Given the description of an element on the screen output the (x, y) to click on. 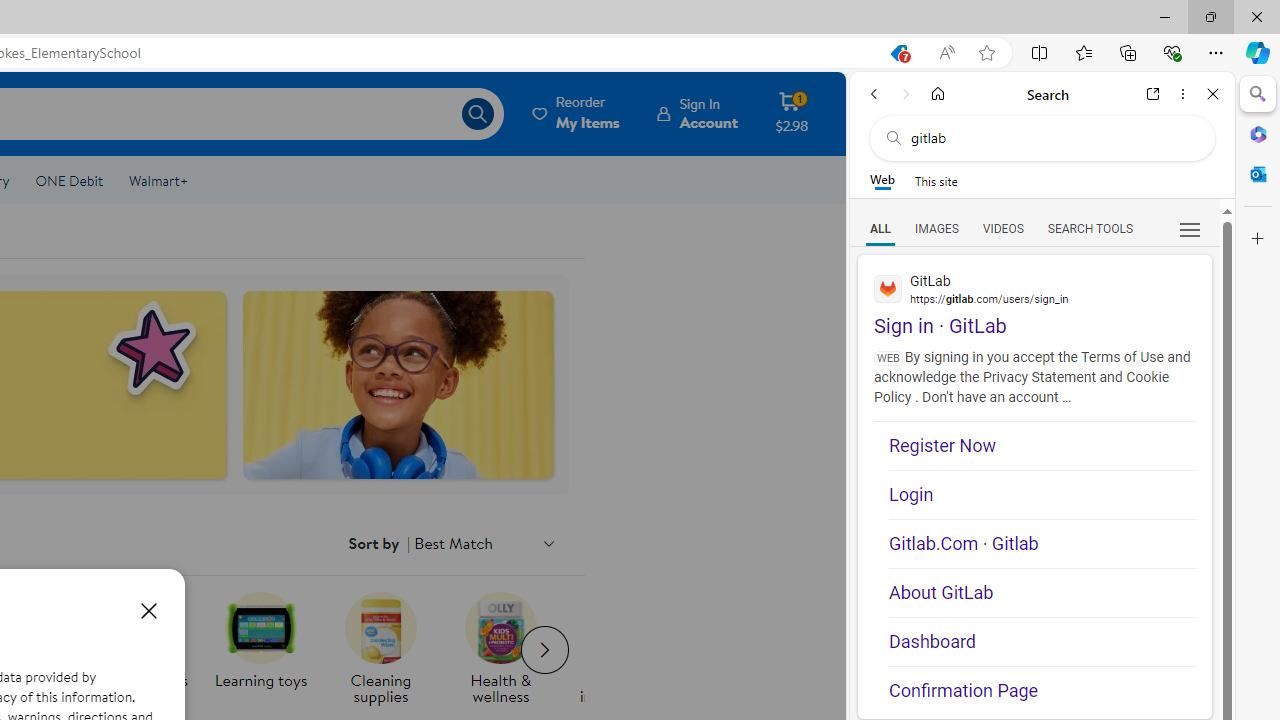
Dashboard (1042, 641)
Register Now (1042, 445)
Confirmation Page (1042, 690)
Forward (906, 93)
Open link in new tab (1153, 93)
Web scope (882, 180)
This site has coupons! Shopping in Microsoft Edge, 7 (898, 53)
Register Now (1042, 445)
Outlook (1258, 174)
VIDEOS (1002, 228)
